Given the description of an element on the screen output the (x, y) to click on. 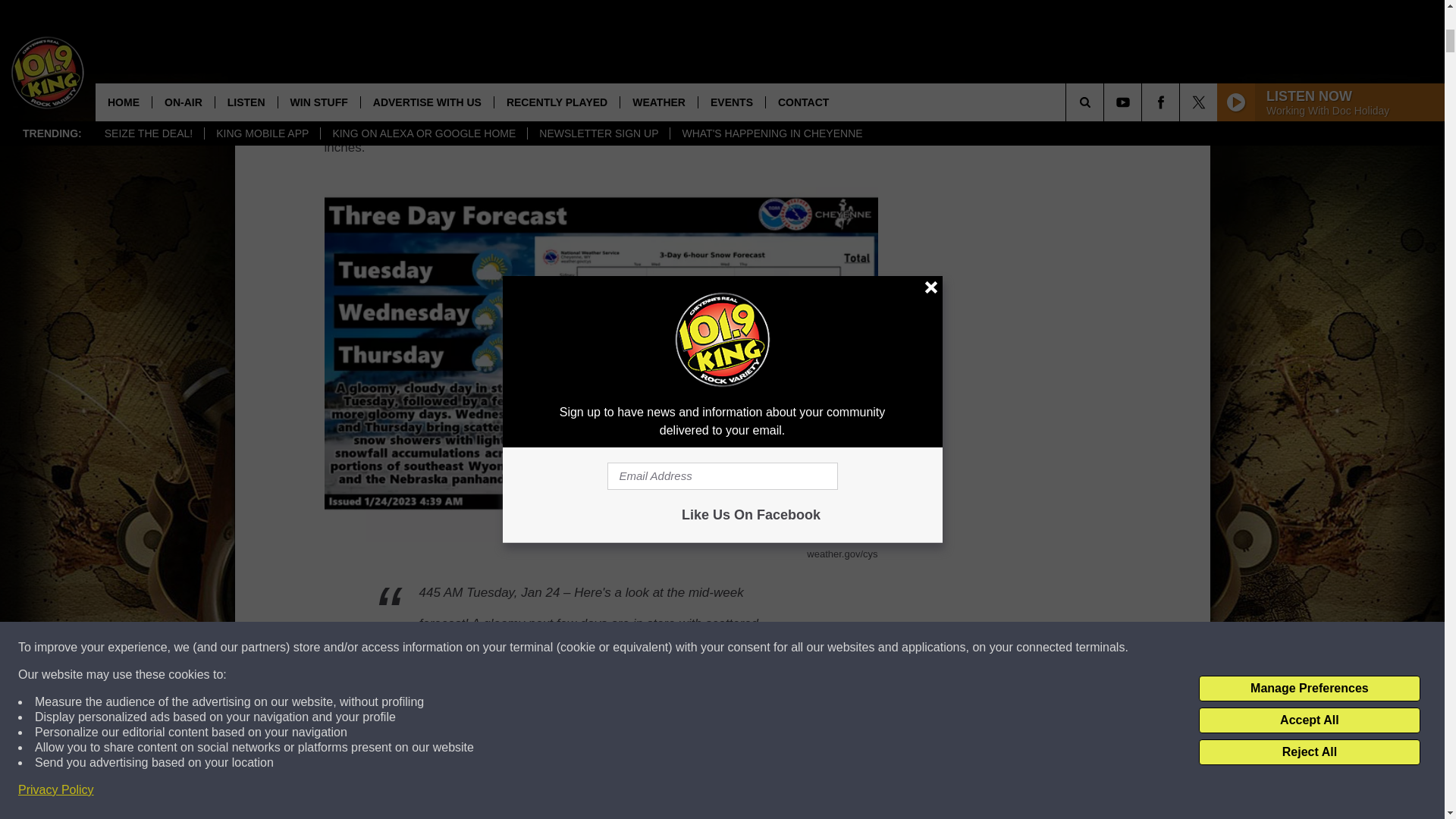
Email Address (600, 26)
